Given the description of an element on the screen output the (x, y) to click on. 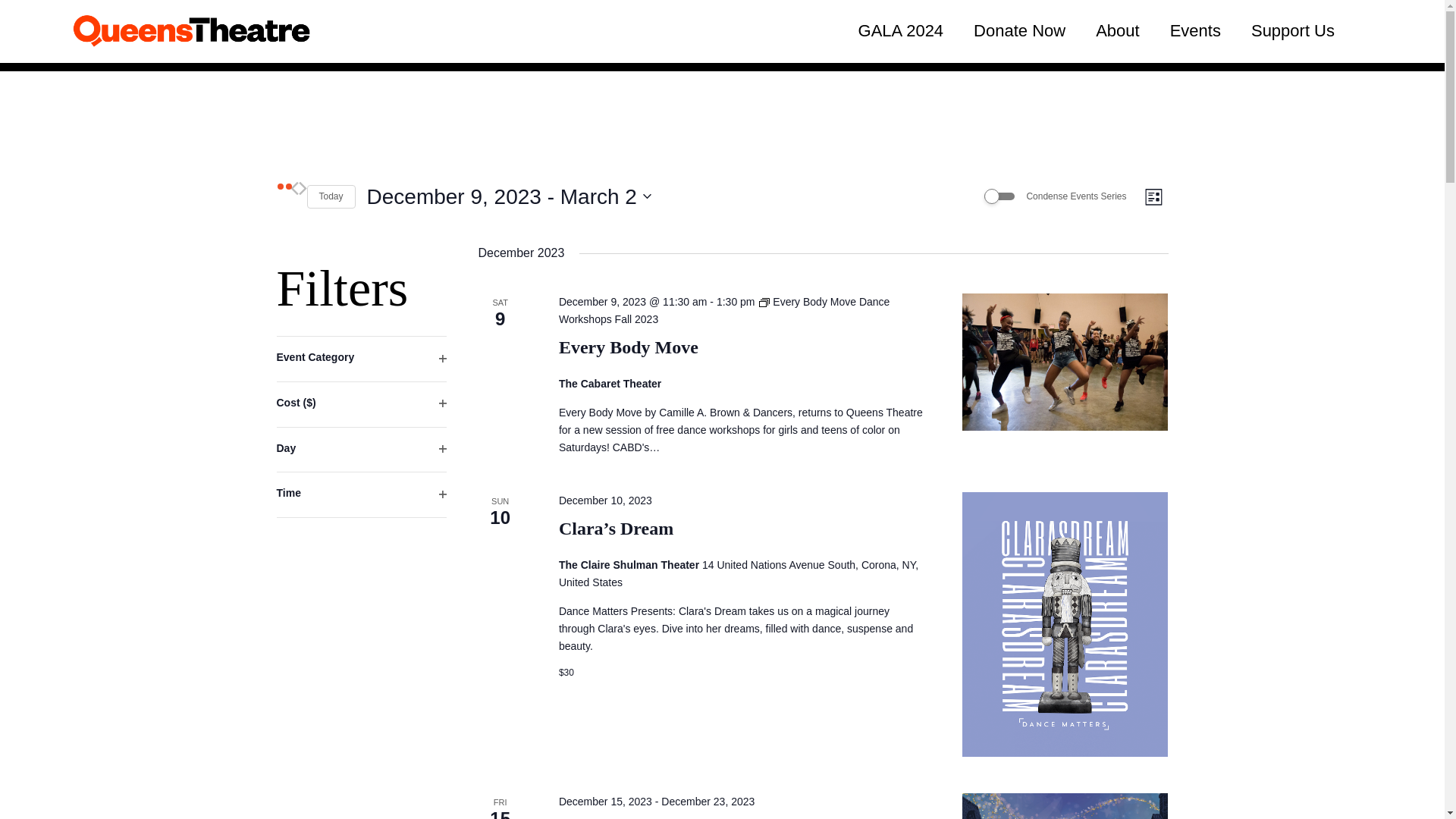
Click to select today's date (330, 196)
GALA 2024 (901, 31)
Event Series (764, 302)
Donate Now (508, 196)
2023-12-09 (1019, 31)
on (1195, 31)
Today (999, 195)
Every Body Move (330, 196)
About (628, 347)
Support Us (1117, 31)
Event Series (1292, 31)
Every Body Move (724, 310)
Click to toggle datepicker (1064, 361)
